Given the description of an element on the screen output the (x, y) to click on. 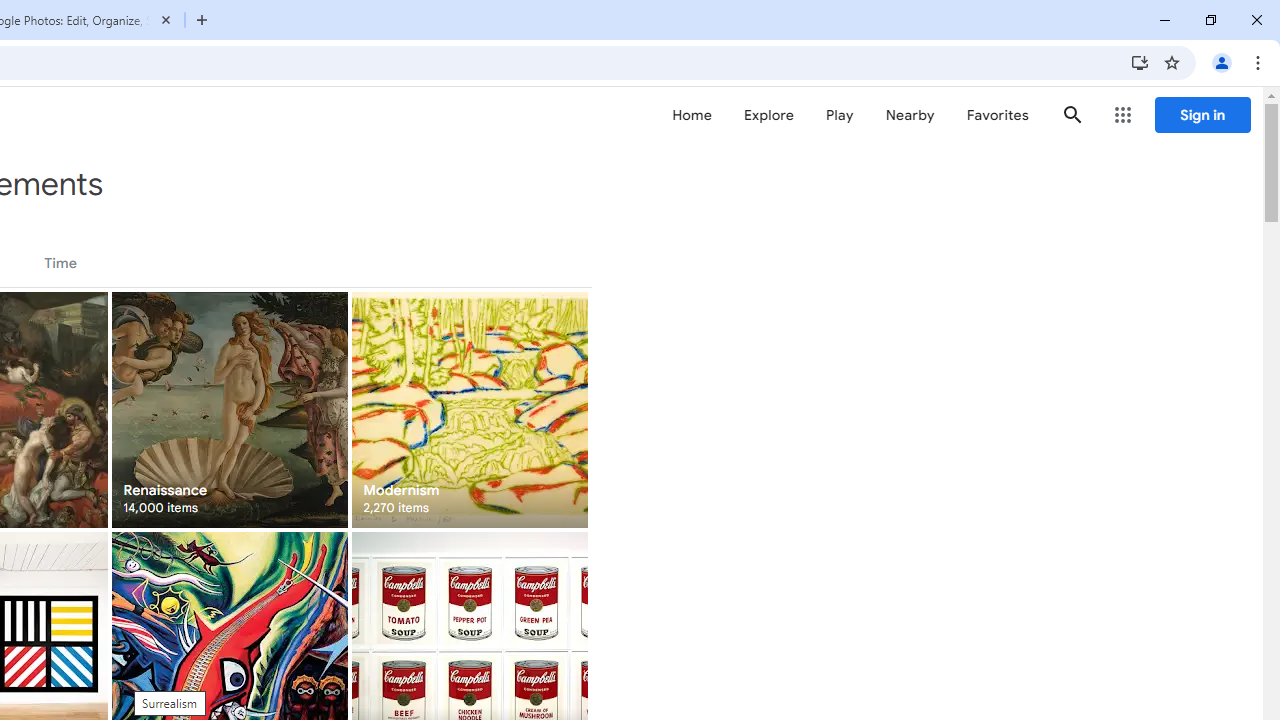
Explore (768, 115)
Time (60, 263)
Favorites (996, 115)
Nearby (910, 115)
